Given the description of an element on the screen output the (x, y) to click on. 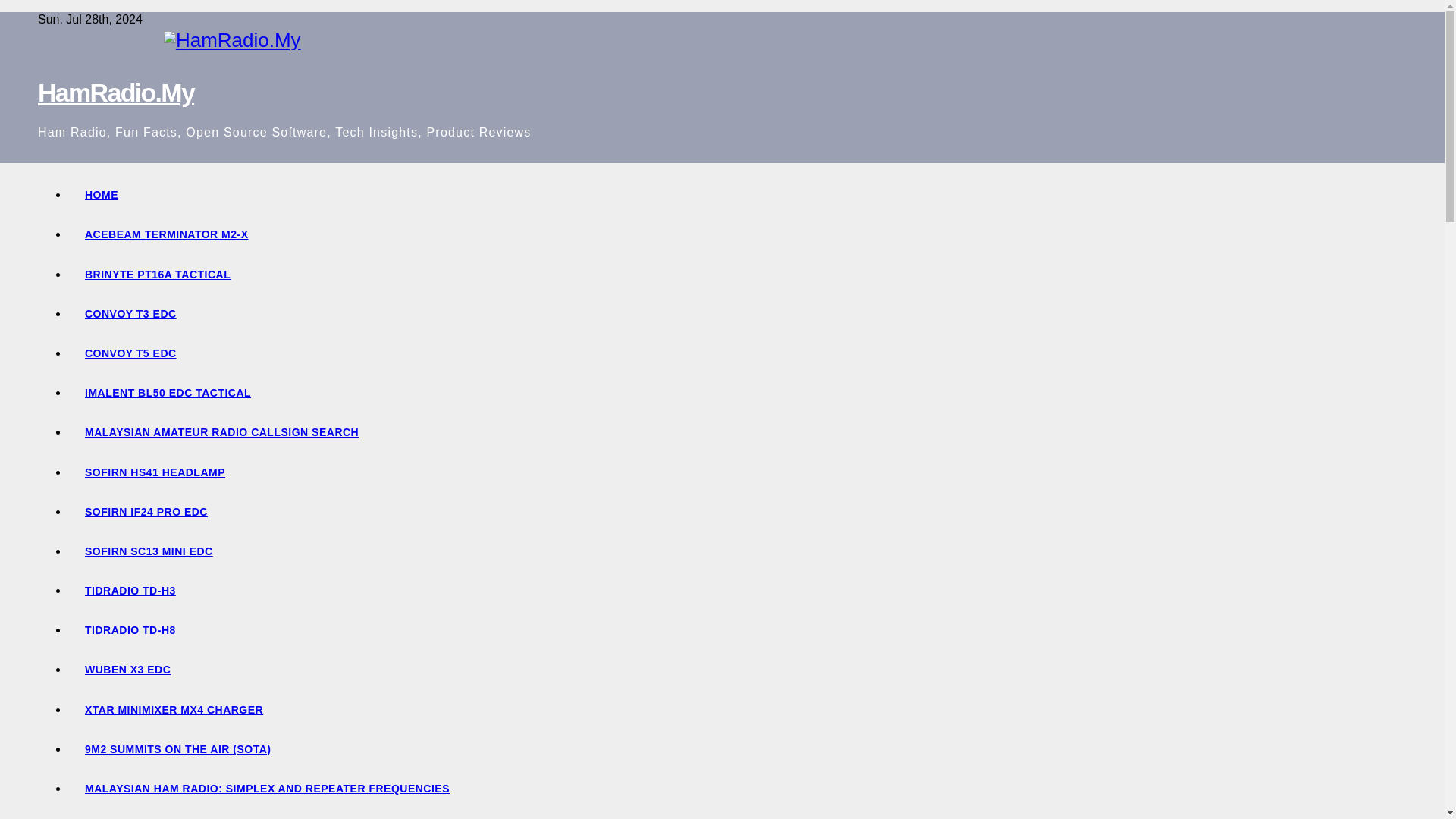
TIDRADIO TD-H8 (737, 630)
TIDRADIO TD-H3 (737, 590)
SOFIRN IF24 PRO EDC (737, 511)
HamRadio.My (115, 92)
IMALENT BL50 EDC TACTICAL (737, 392)
ACEBEAM TERMINATOR M2-X (737, 233)
BRINYTE PT16A TACTICAL (737, 274)
HOME (737, 194)
CONVOY T3 EDC (737, 313)
SOFIRN HS41 HEADLAMP (737, 471)
XTAR MINIMIXER MX4 CHARGER (737, 709)
MALAYSIAN AMATEUR RADIO CALLSIGN SEARCH (737, 432)
CONVOY T5 EDC (737, 353)
MALAYSIAN HAM RADIO: SIMPLEX AND REPEATER FREQUENCIES (737, 788)
